Given the description of an element on the screen output the (x, y) to click on. 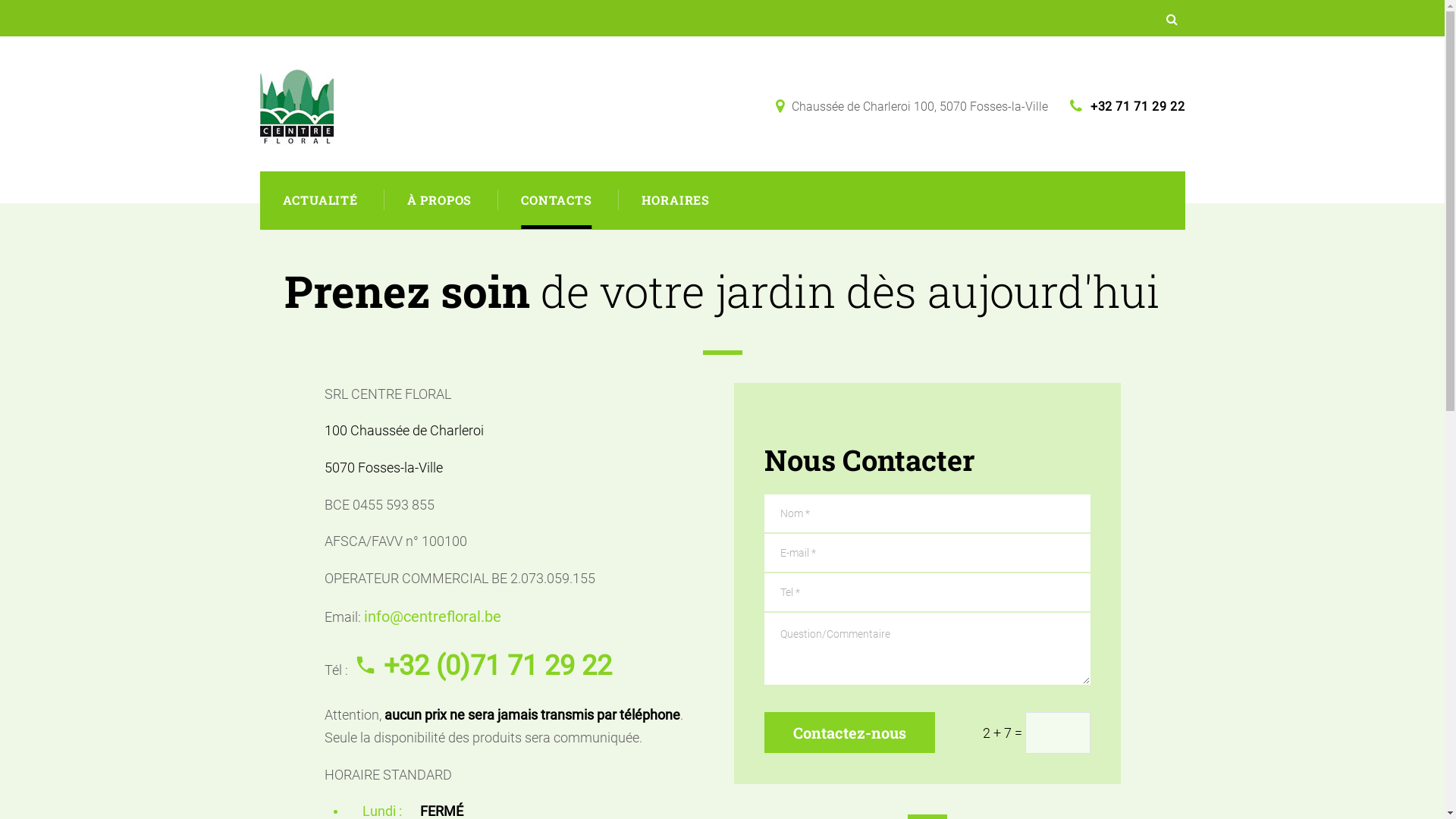
HORAIRES Element type: text (675, 199)
info@centrefloral.be Element type: text (432, 616)
CONTACTS Element type: text (556, 199)
+32 71 71 29 22 Element type: text (1127, 106)
Contactez-nous Element type: text (849, 732)
Skip to content Element type: text (0, 0)
+32 (0)71 71 29 22 Element type: text (482, 665)
